Given the description of an element on the screen output the (x, y) to click on. 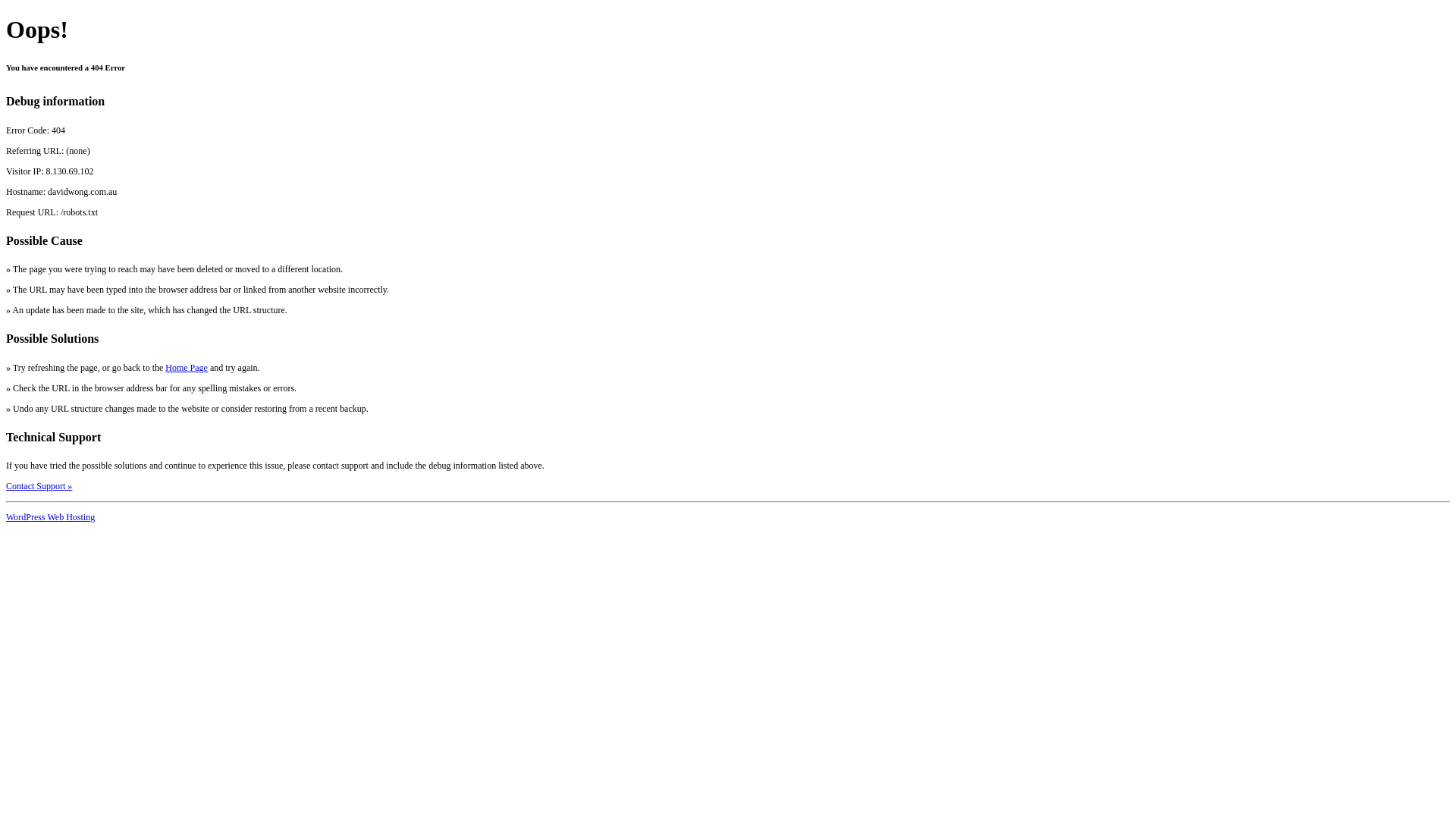
WordPress Web Hosting Element type: text (50, 516)
Home Page Element type: text (186, 367)
